Given the description of an element on the screen output the (x, y) to click on. 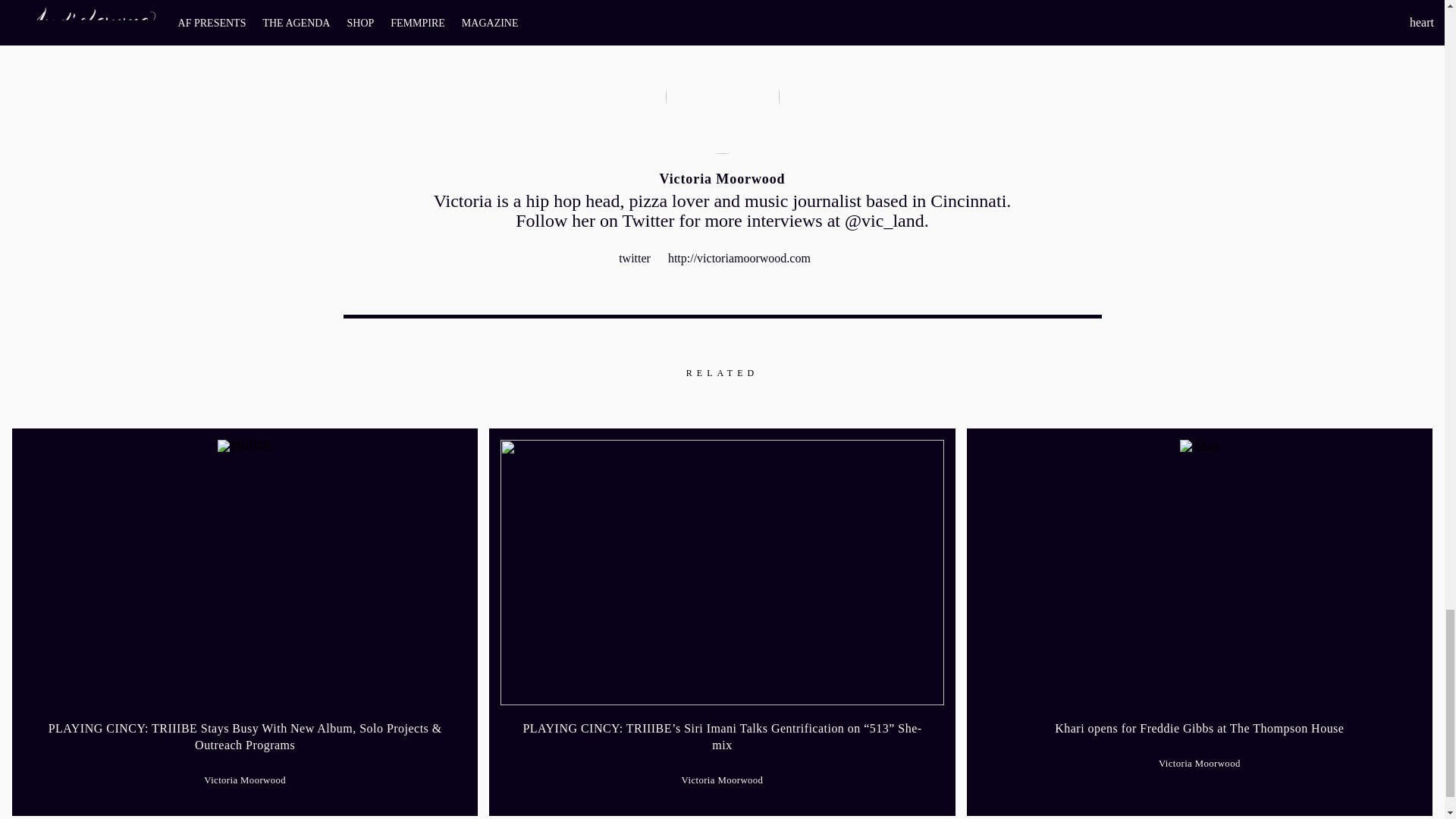
Posts by Victoria Moorwood (721, 779)
Posts by Victoria Moorwood (244, 779)
Victoria Moorwood (1199, 763)
Victoria Moorwood (721, 779)
Victoria Moorwood (244, 779)
Victoria Moorwood (721, 178)
twitter (635, 257)
Posts by Victoria Moorwood (1199, 763)
